Given the description of an element on the screen output the (x, y) to click on. 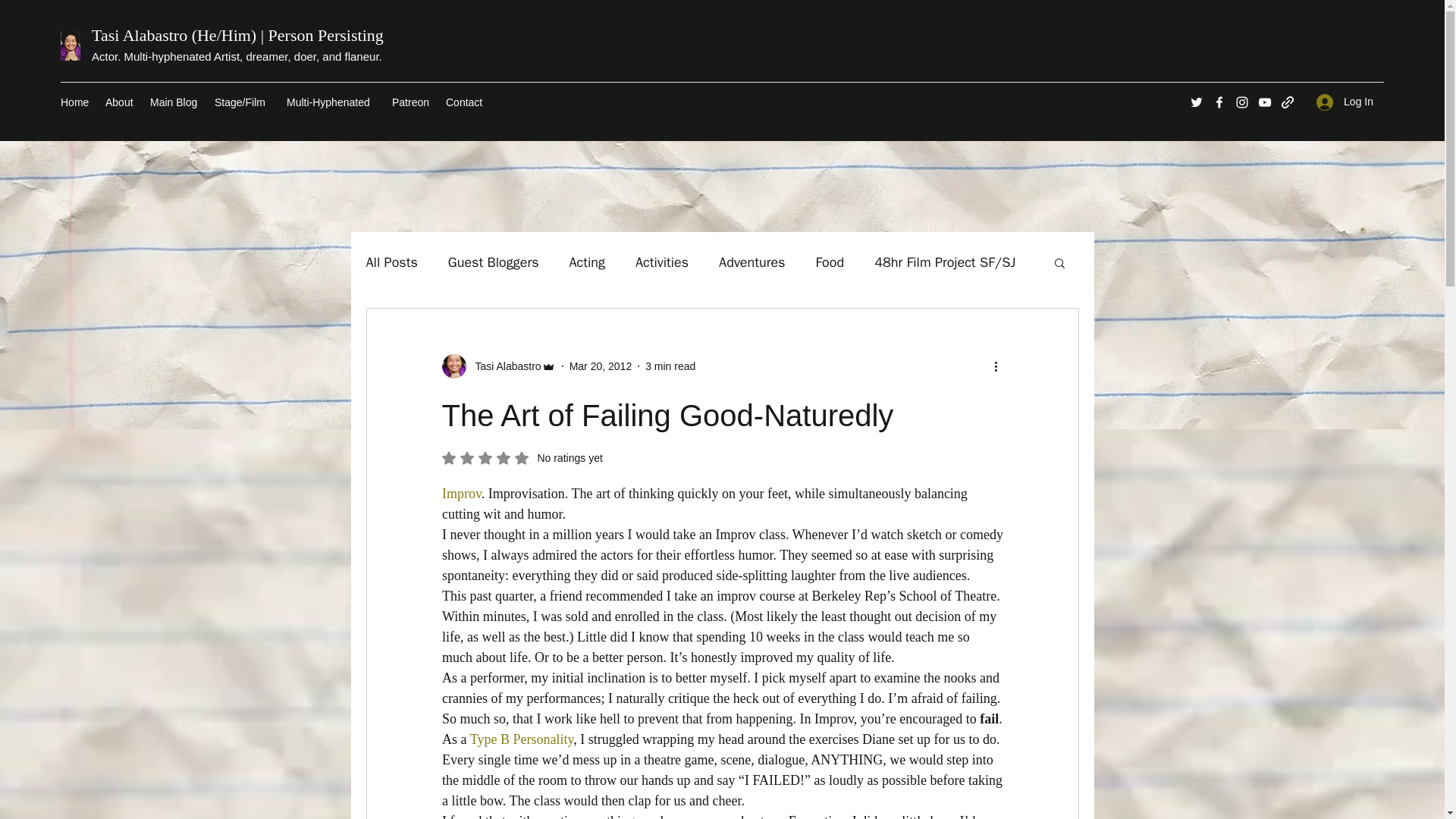
Patreon (411, 101)
All Posts (390, 262)
Food (829, 262)
Home (74, 101)
About (119, 101)
Activities (661, 262)
Acting (587, 262)
Guest Bloggers (493, 262)
3 min read (670, 365)
Mar 20, 2012 (600, 365)
